Given the description of an element on the screen output the (x, y) to click on. 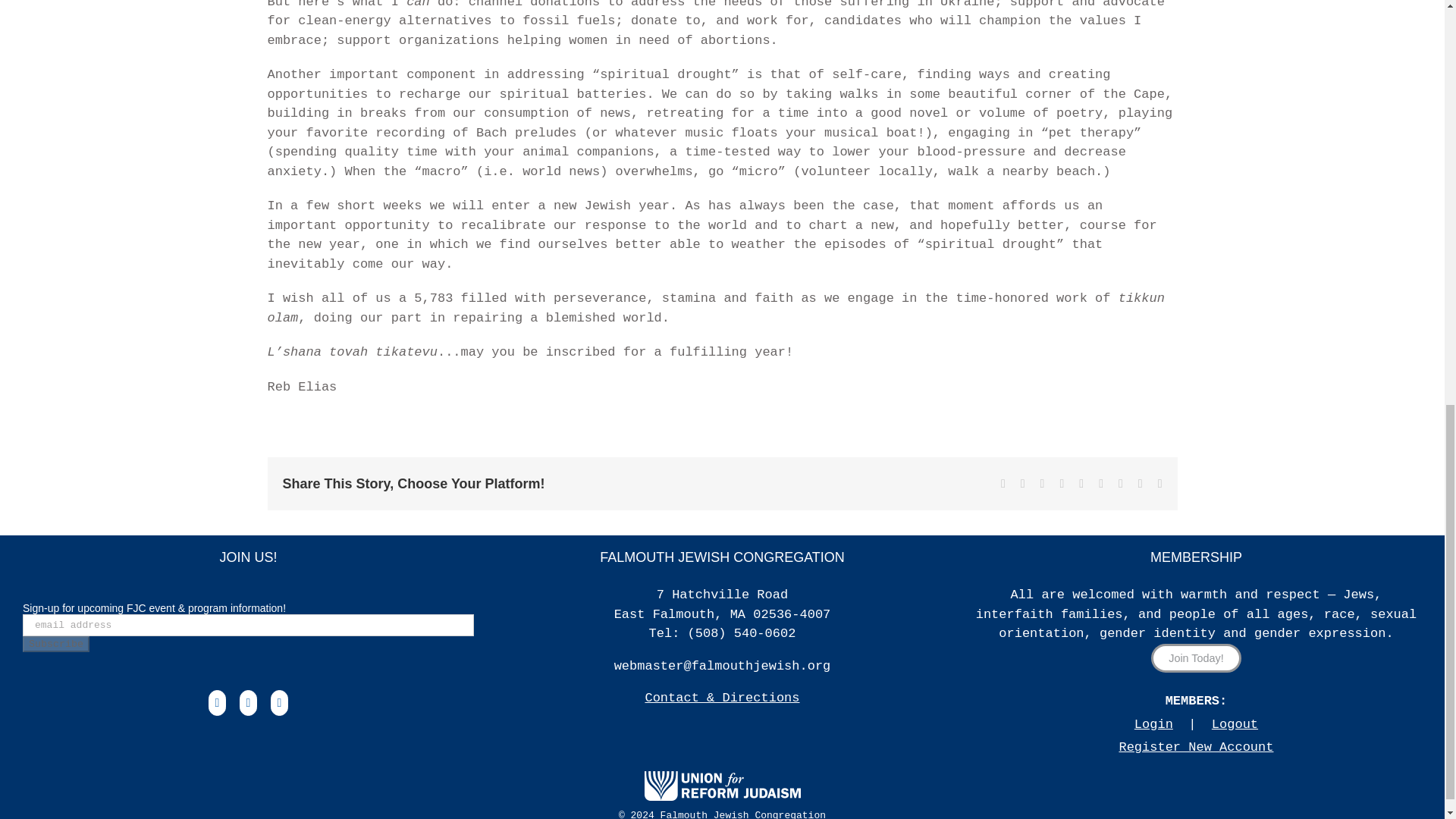
Subscribe (55, 643)
